Given the description of an element on the screen output the (x, y) to click on. 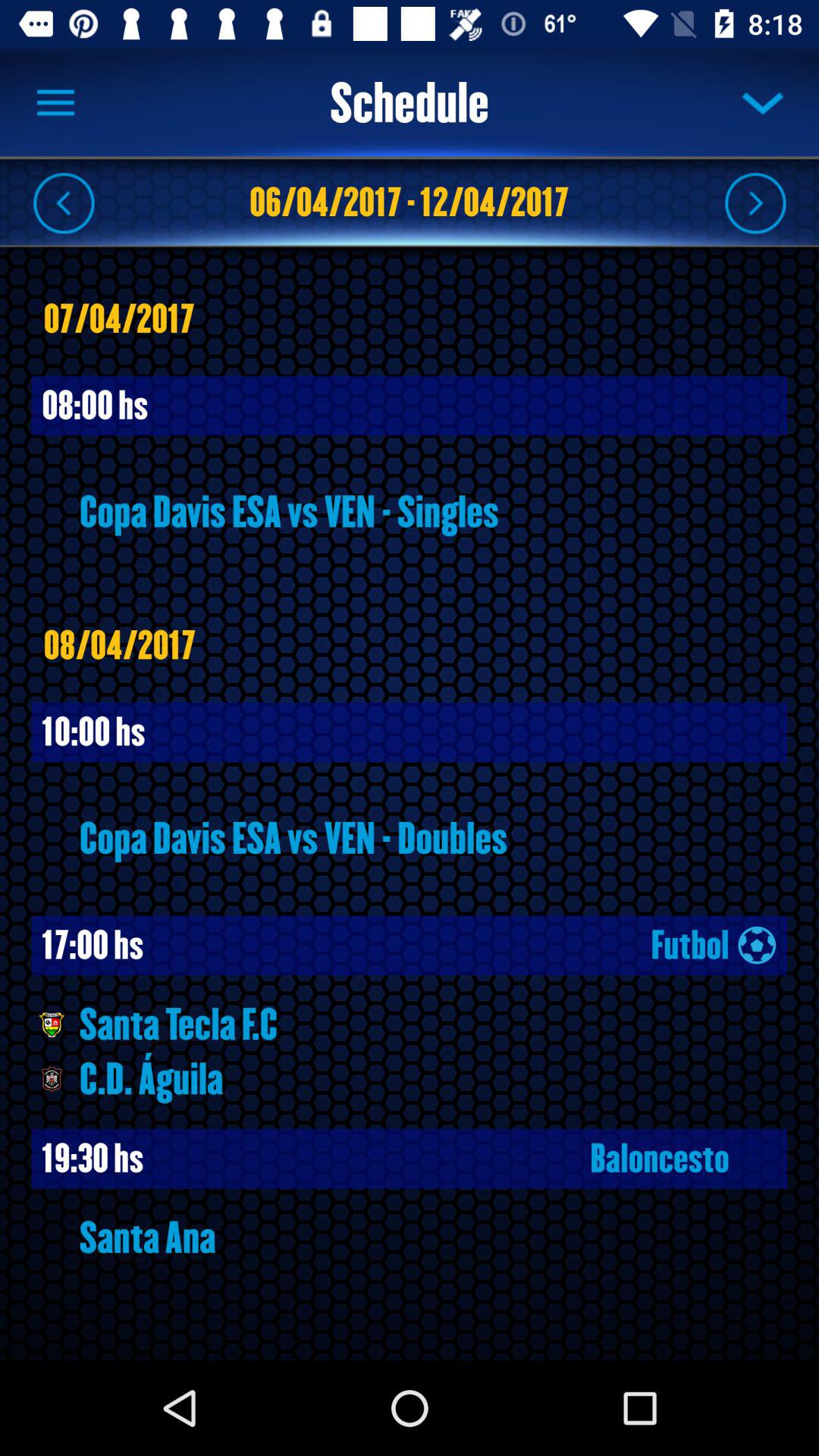
back button (63, 202)
